Given the description of an element on the screen output the (x, y) to click on. 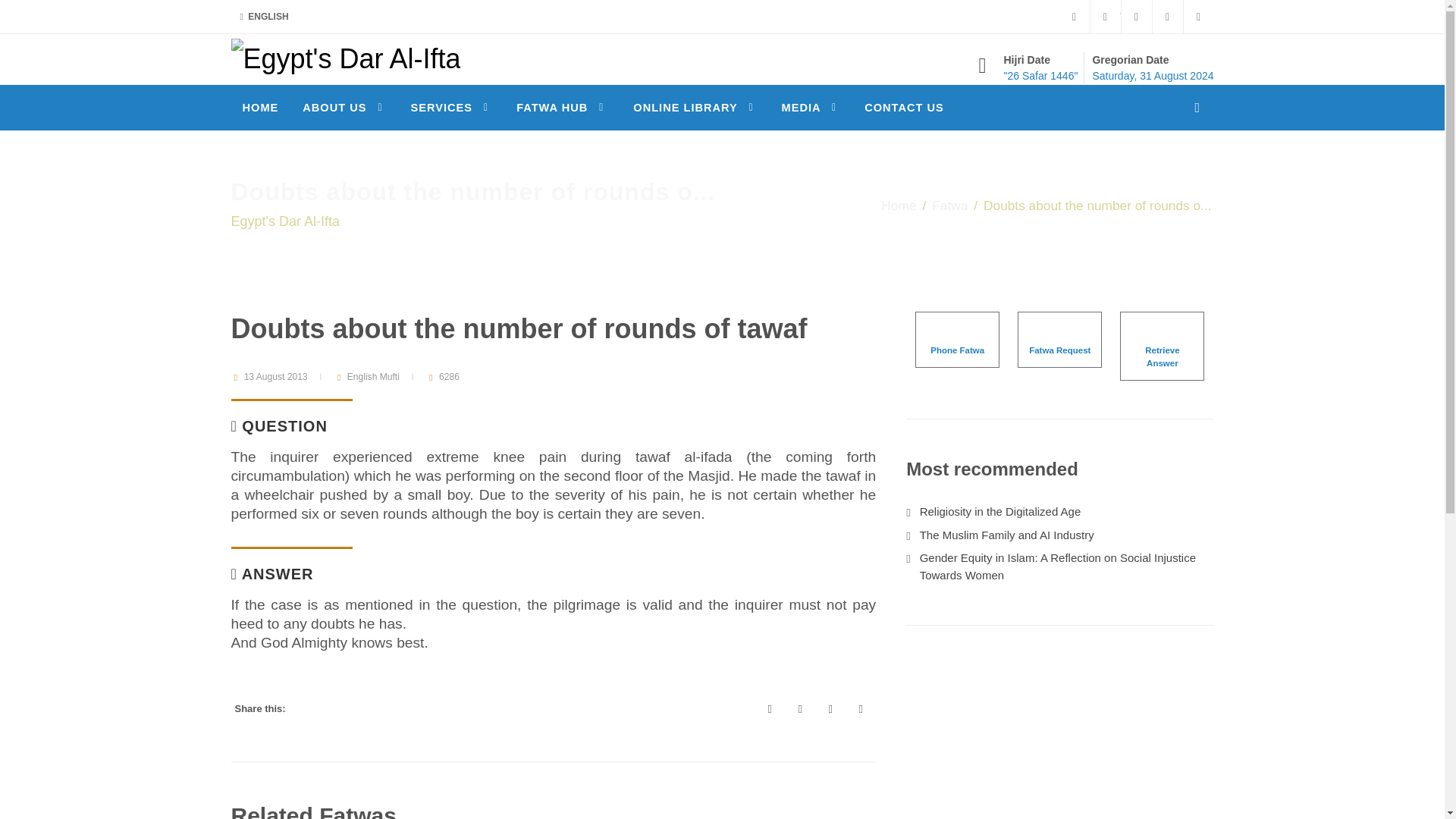
ONLINE LIBRARY (694, 107)
Egypt's Dar Al-Ifta (345, 58)
MEDIA (810, 107)
ABOUT US (344, 107)
Online Library (694, 107)
Services (450, 107)
FATWA HUB (561, 107)
SERVICES (450, 107)
About Us (344, 107)
HOME (259, 107)
